Given the description of an element on the screen output the (x, y) to click on. 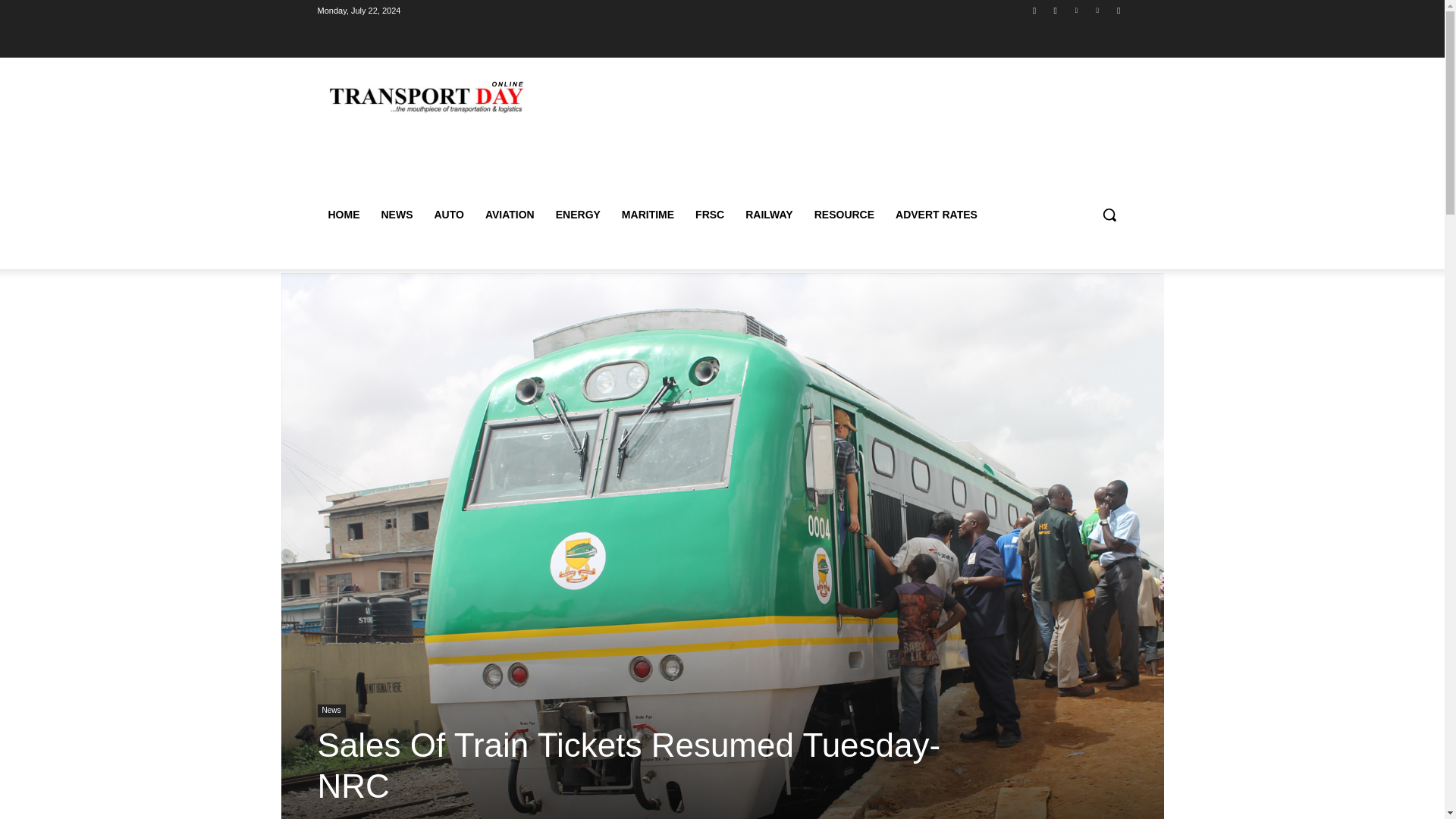
TRANSPORT DAY MAGAZINE (425, 96)
HOME (343, 214)
Vimeo (1097, 9)
AUTO (448, 214)
Facebook (1034, 9)
Twitter (1075, 9)
Youtube (1117, 9)
NEWS (396, 214)
Instagram (1055, 9)
